Given the description of an element on the screen output the (x, y) to click on. 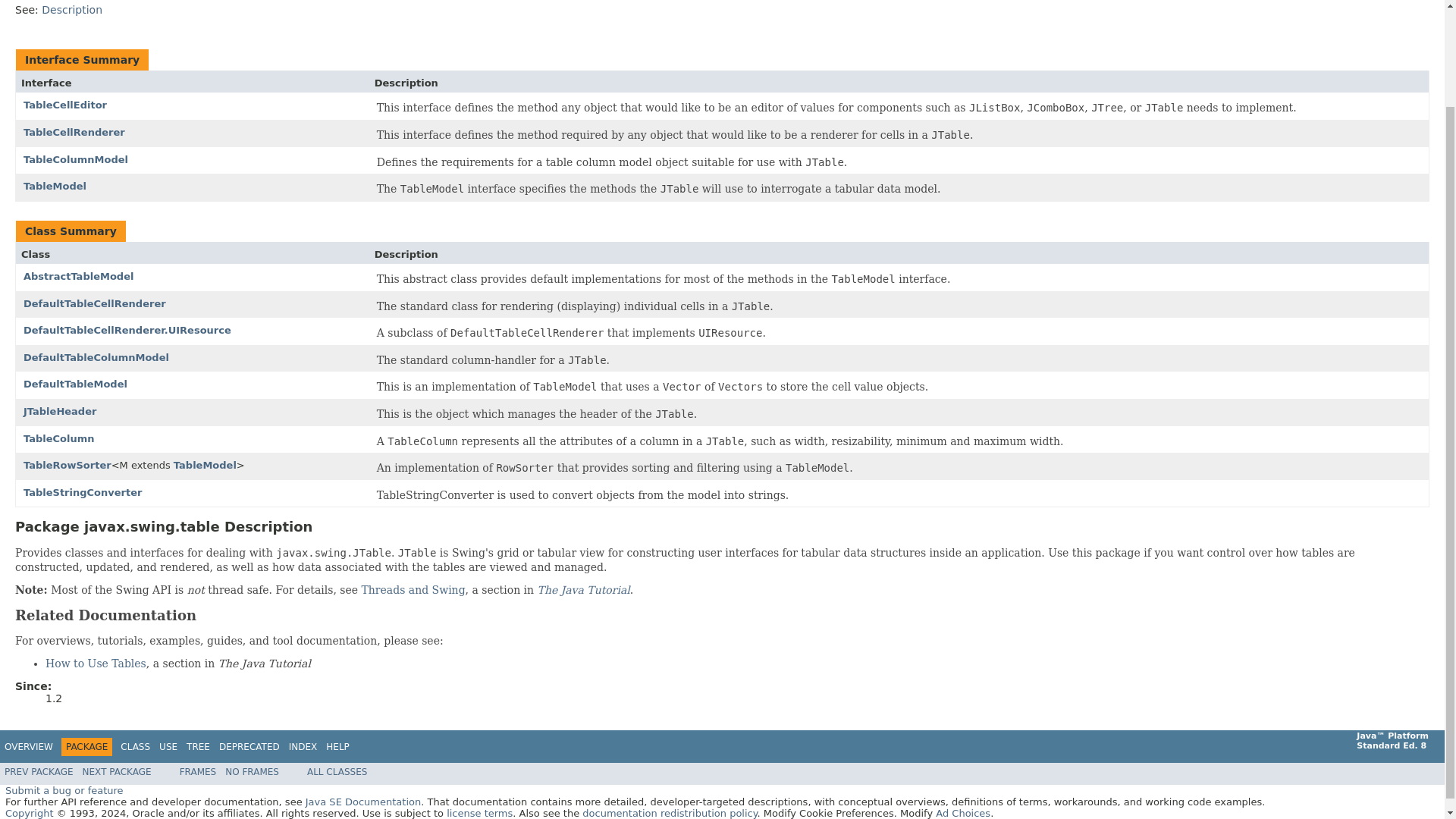
The Java Tutorial (583, 589)
TREE (197, 747)
interface in javax.swing.table (75, 159)
class in javax.swing.table (95, 357)
Description (71, 9)
DefaultTableCellRenderer (94, 303)
class in javax.swing.table (75, 383)
DefaultTableModel (75, 383)
TableRowSorter (67, 464)
TableColumn (58, 437)
class in javax.swing.table (94, 303)
class in javax.swing.table (127, 329)
DefaultTableColumnModel (95, 357)
Threads and Swing (413, 589)
class in javax.swing.table (67, 464)
